Given the description of an element on the screen output the (x, y) to click on. 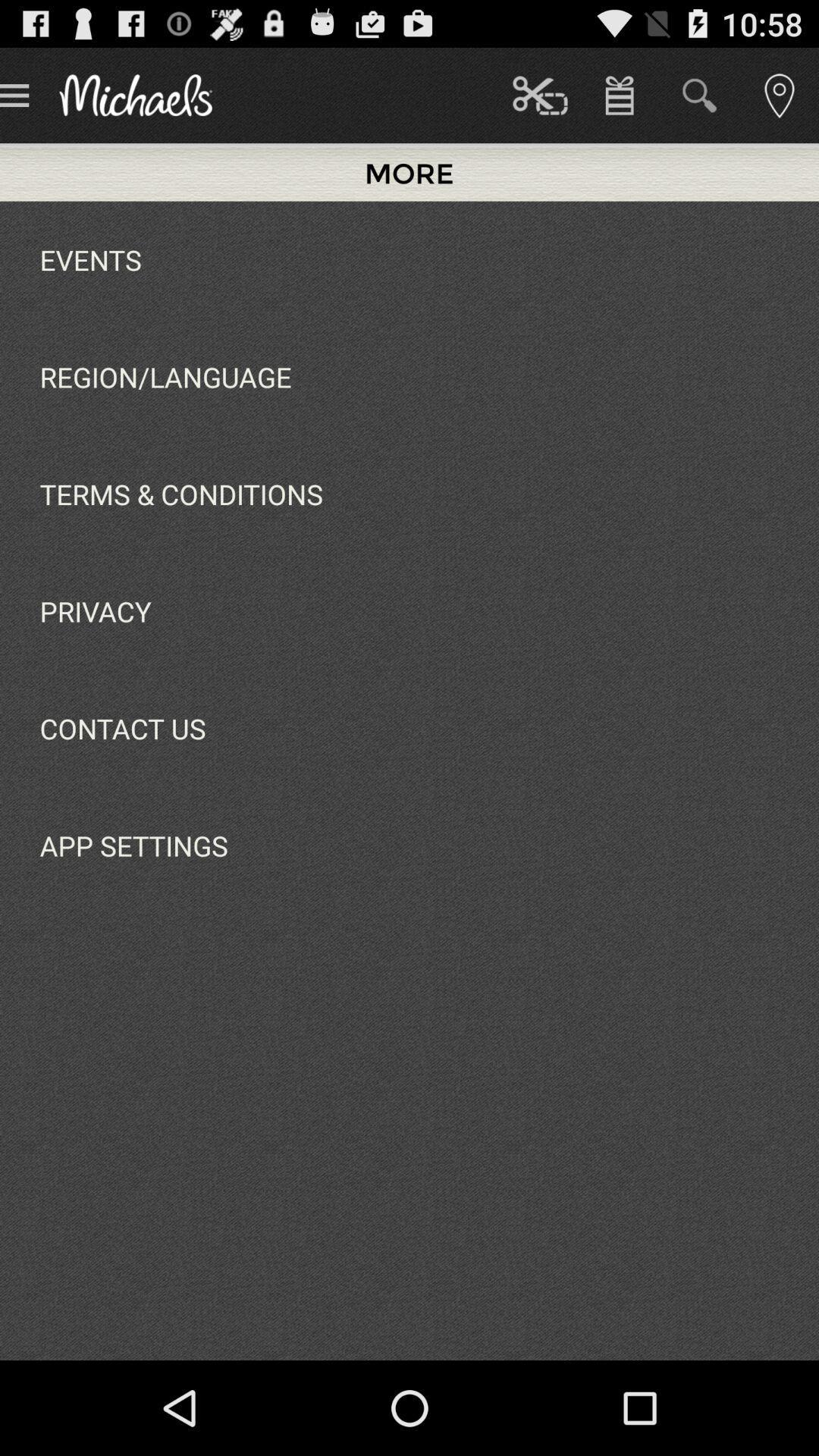
turn on the app above the privacy app (181, 494)
